Given the description of an element on the screen output the (x, y) to click on. 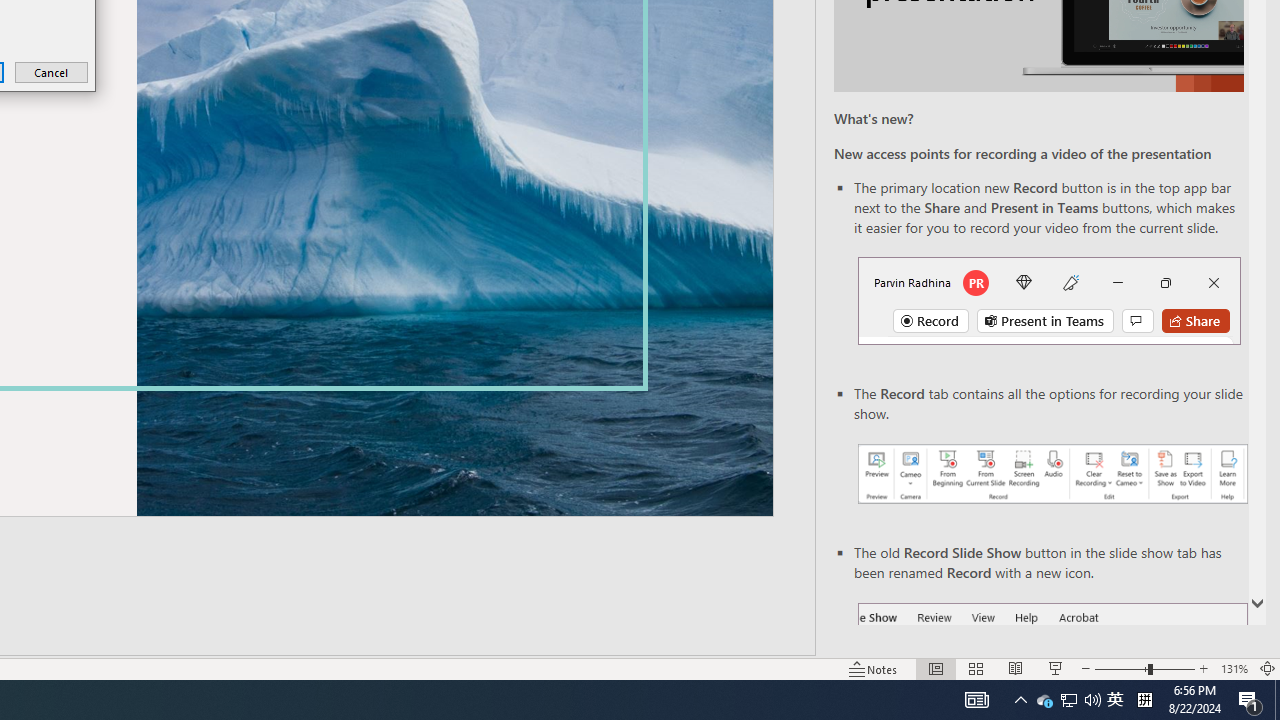
Record button in top bar (1049, 300)
